Given the description of an element on the screen output the (x, y) to click on. 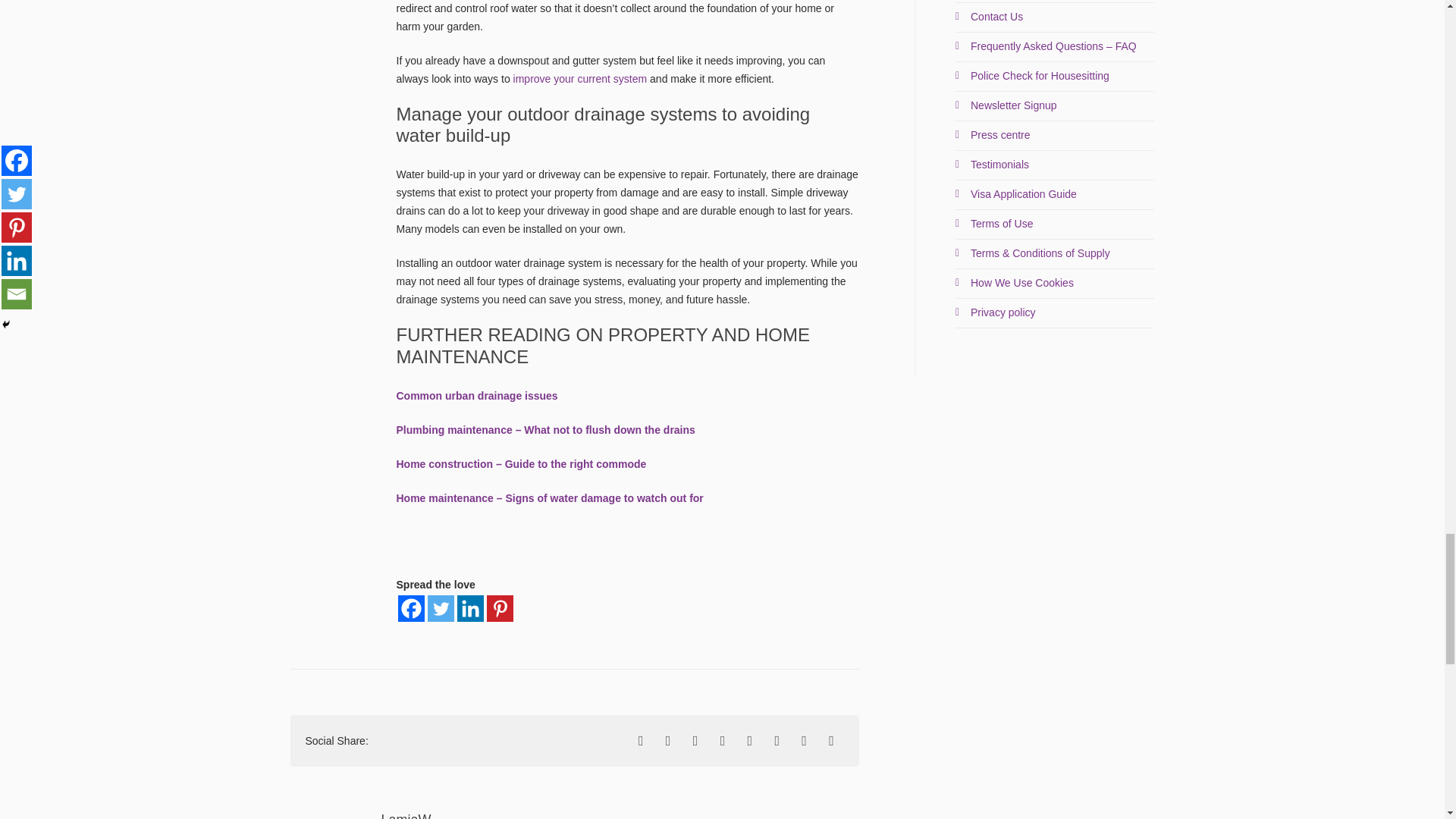
Linkedin (470, 608)
Twitter (441, 608)
Facebook (410, 608)
Pinterest (499, 608)
